Given the description of an element on the screen output the (x, y) to click on. 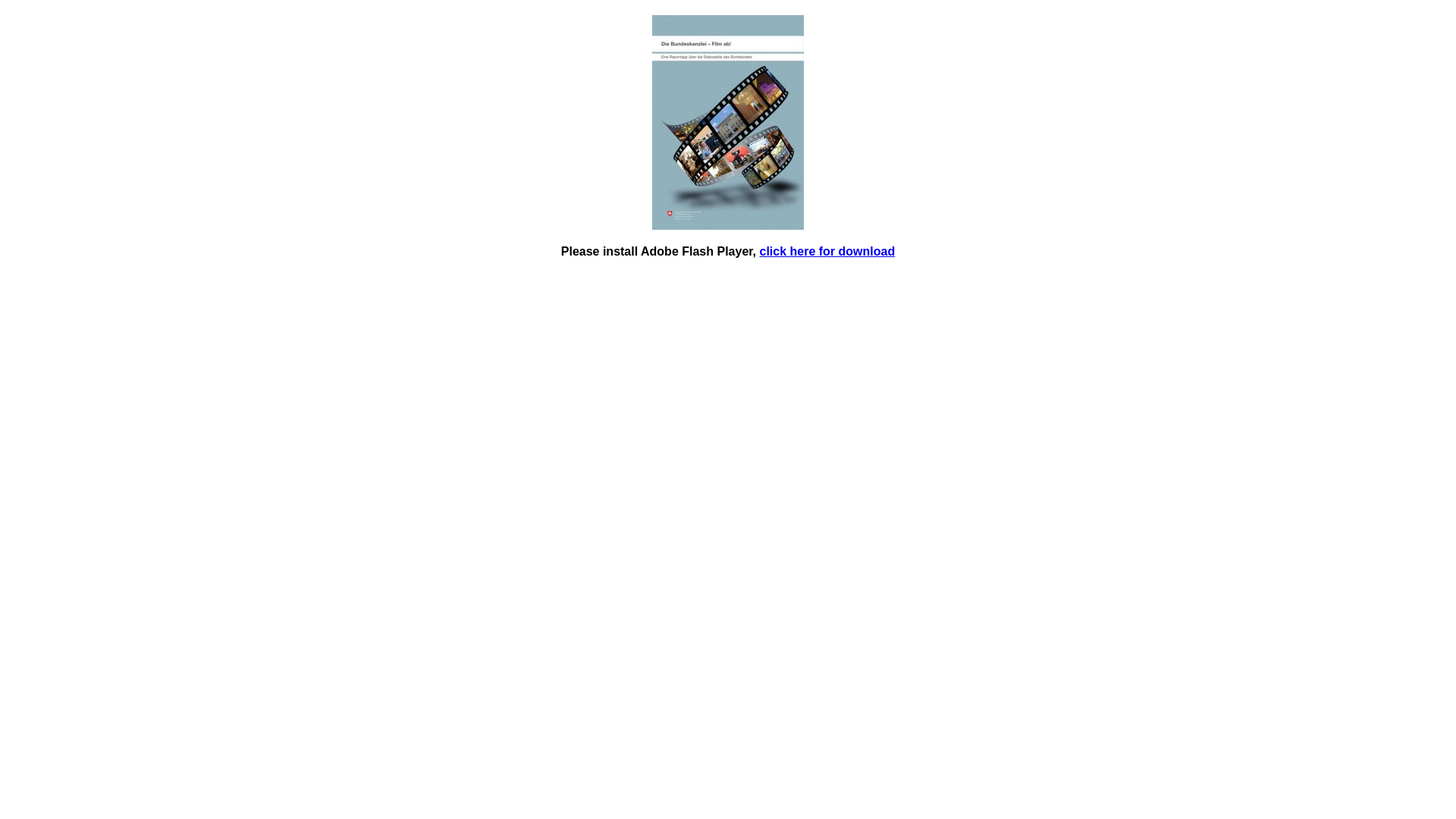
click here for download Element type: text (827, 250)
